Given the description of an element on the screen output the (x, y) to click on. 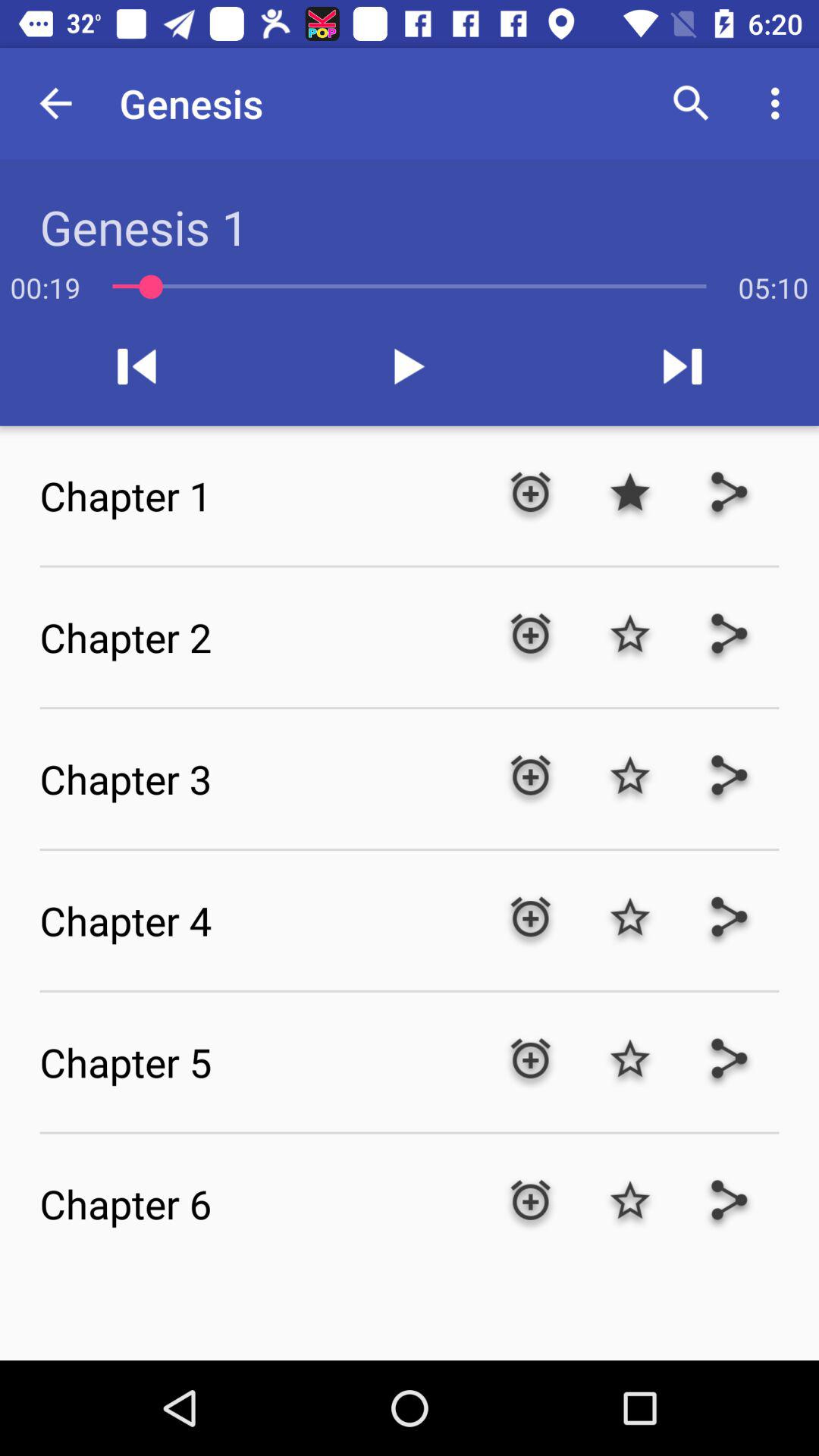
choose chapter 4 item (259, 920)
